Given the description of an element on the screen output the (x, y) to click on. 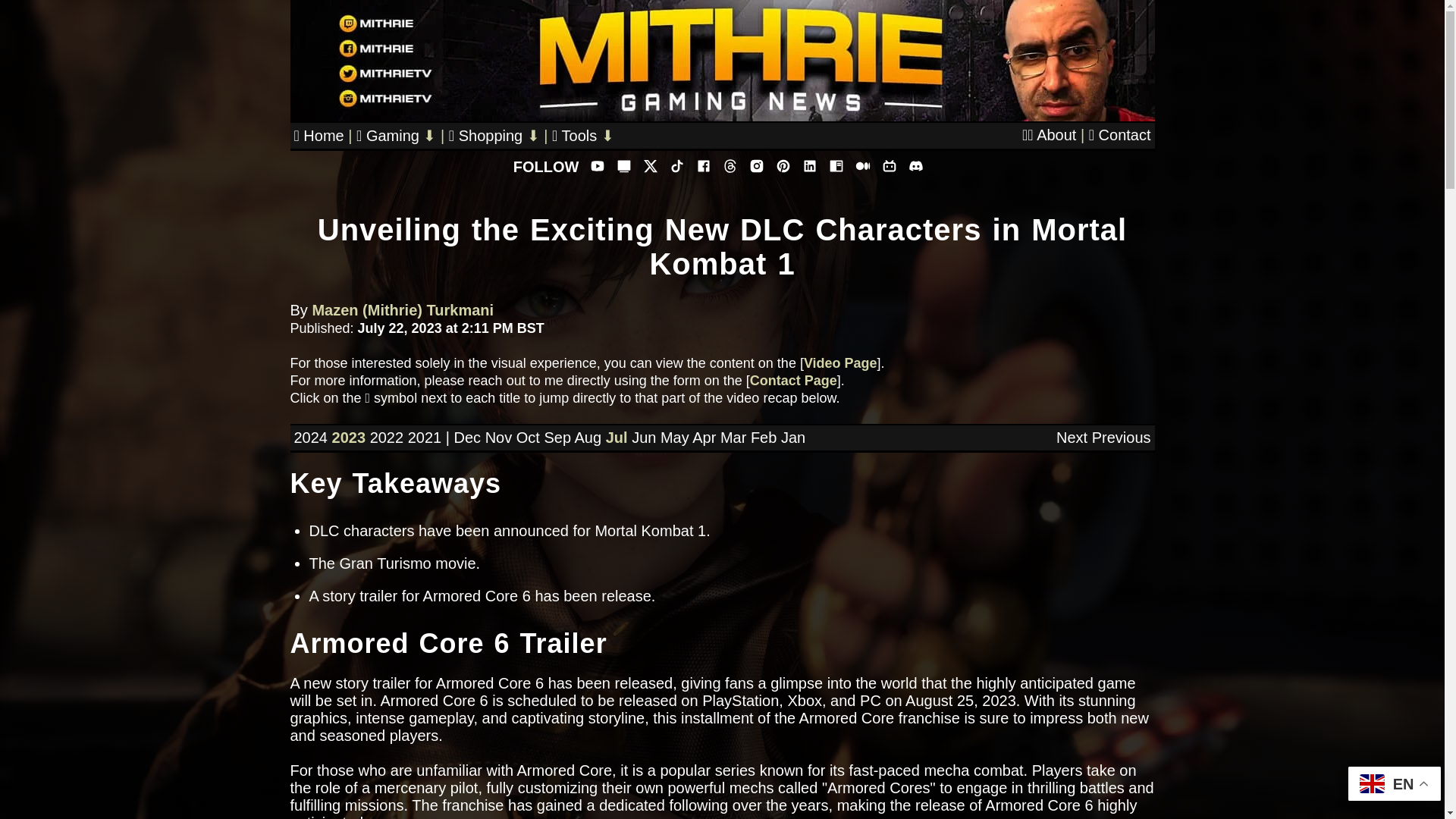
Video Page (840, 363)
2022 (386, 437)
Contact Page (793, 380)
2024 (311, 437)
Dec (466, 437)
2021 (424, 437)
